Given the description of an element on the screen output the (x, y) to click on. 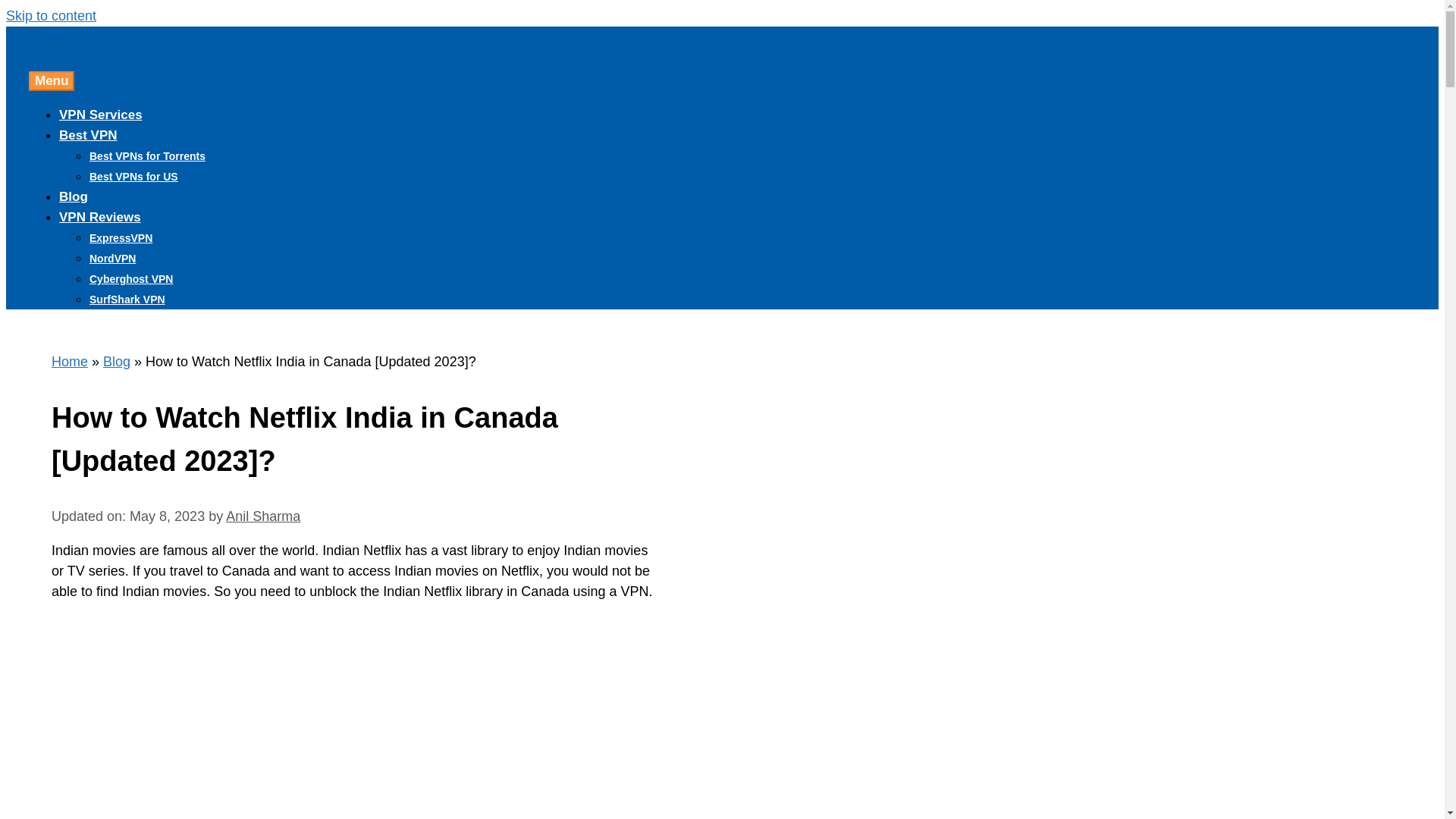
Anil Sharma (262, 516)
View all posts by Anil Sharma (262, 516)
Menu (51, 80)
VPN Reviews (100, 216)
NordVPN (111, 258)
Best VPNs for US (132, 176)
Blog (117, 361)
Best VPN (88, 134)
TheSoftPot (132, 45)
Skip to content (50, 15)
Blog (73, 196)
ExpressVPN (120, 237)
Cyberghost VPN (130, 278)
SurfShark VPN (126, 299)
Best VPNs for Torrents (146, 155)
